Given the description of an element on the screen output the (x, y) to click on. 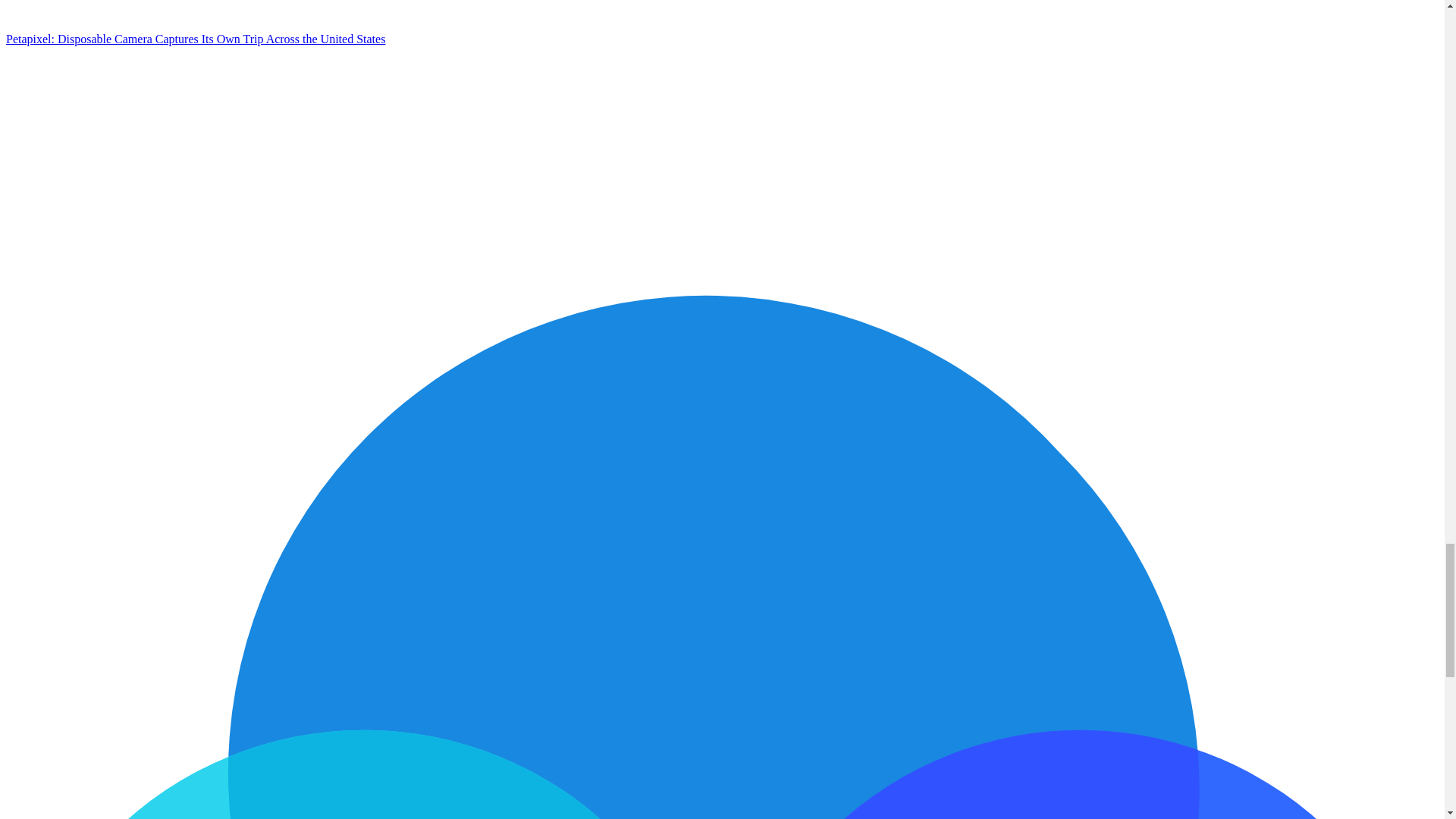
Add to Raindrop.io (118, 24)
Previous page (118, 155)
Next page (346, 155)
